Given the description of an element on the screen output the (x, y) to click on. 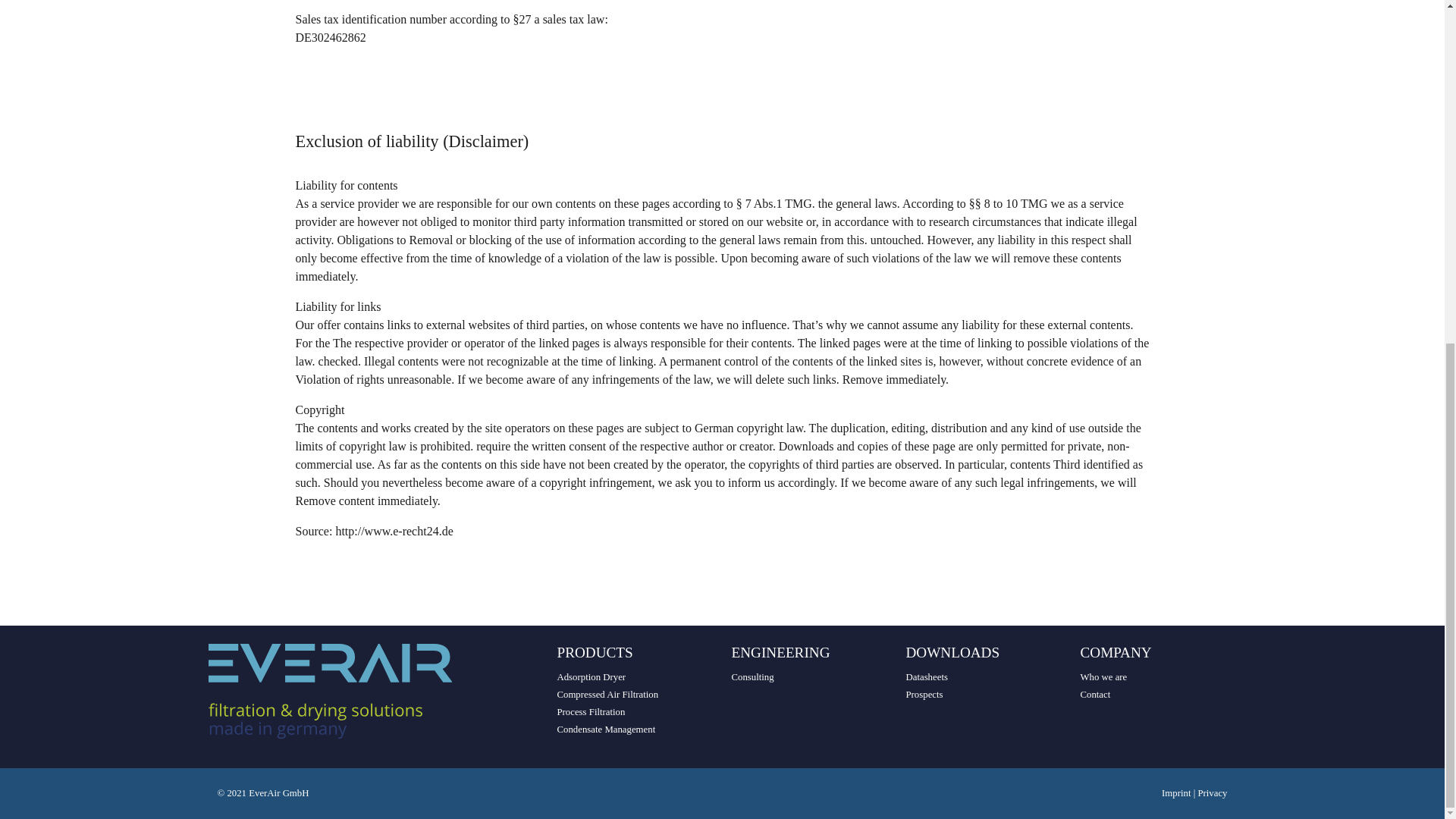
Compressed Air Filtration (607, 694)
Who we are (1103, 676)
Imprint (1177, 792)
Consulting (751, 676)
Contact (1094, 694)
Process Filtration (590, 711)
Privacy (1211, 792)
Prospects (923, 694)
Datasheets (926, 676)
Condensate Management (605, 728)
Adsorption Dryer (591, 676)
